Given the description of an element on the screen output the (x, y) to click on. 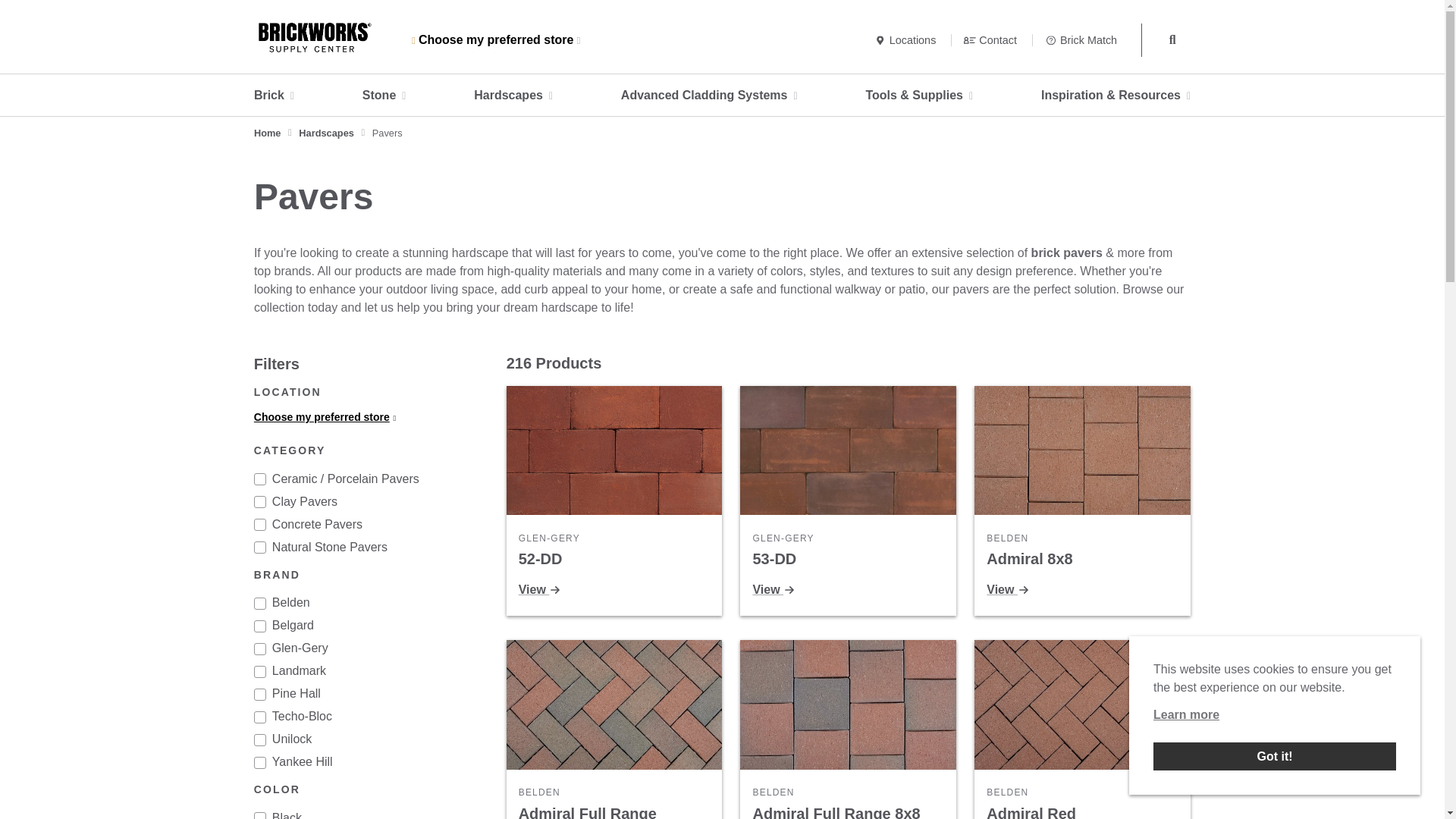
Advanced Cladding Systems (709, 95)
Contact (991, 39)
Brick Match (1080, 39)
Locations (907, 39)
Hardscapes (513, 95)
Brick Match (1080, 39)
Stone (384, 95)
Choose my preferred store (496, 39)
Hardscapes (513, 95)
Stone (384, 95)
Brick (273, 95)
Locations (907, 39)
Contact (991, 39)
Brick (273, 95)
